Given the description of an element on the screen output the (x, y) to click on. 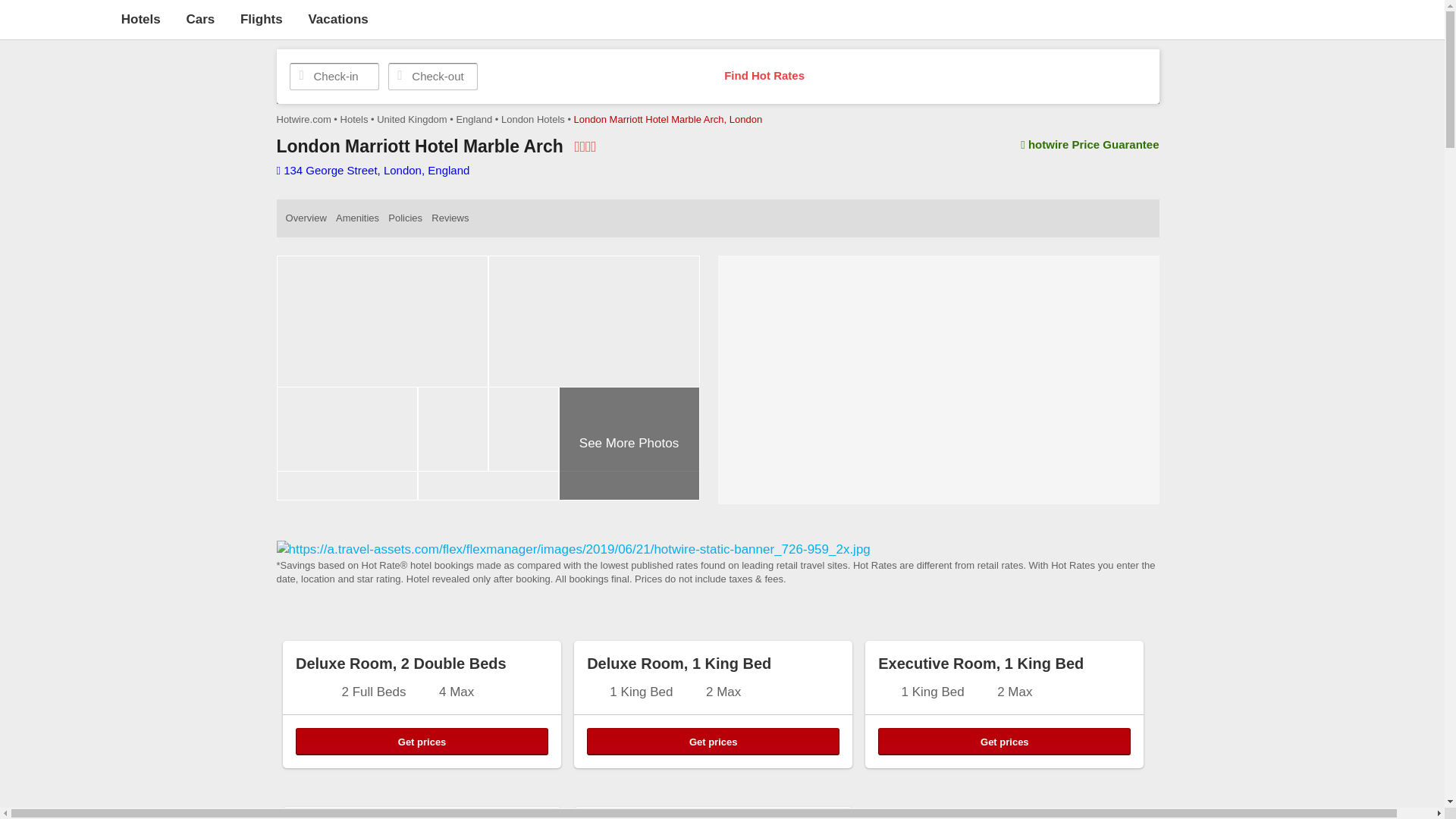
Vacations (337, 19)
Hotels (140, 19)
Hotwire (56, 18)
Flights (261, 19)
Cars (200, 19)
4.0 (584, 146)
